Given the description of an element on the screen output the (x, y) to click on. 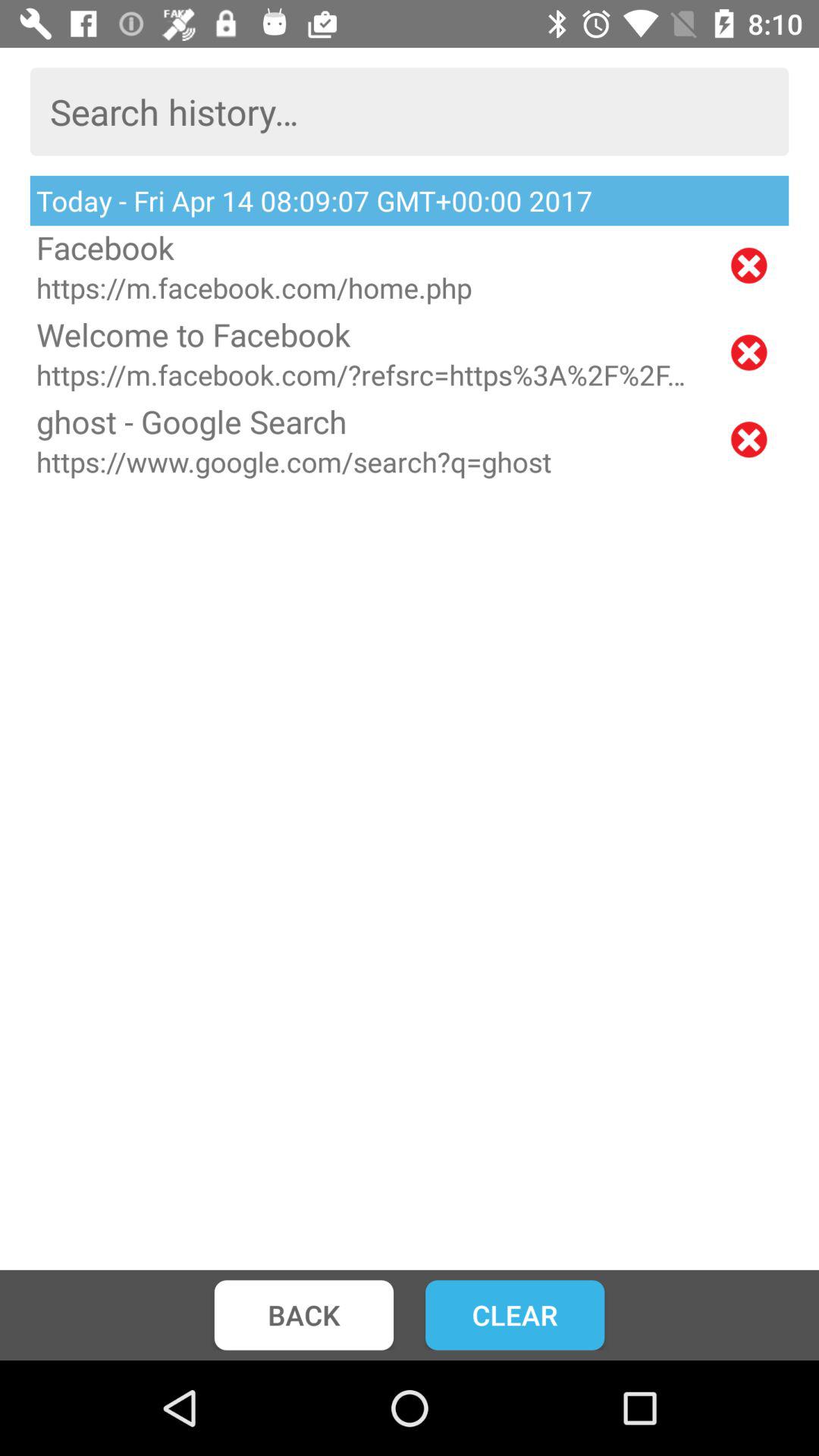
delete history website (748, 265)
